Given the description of an element on the screen output the (x, y) to click on. 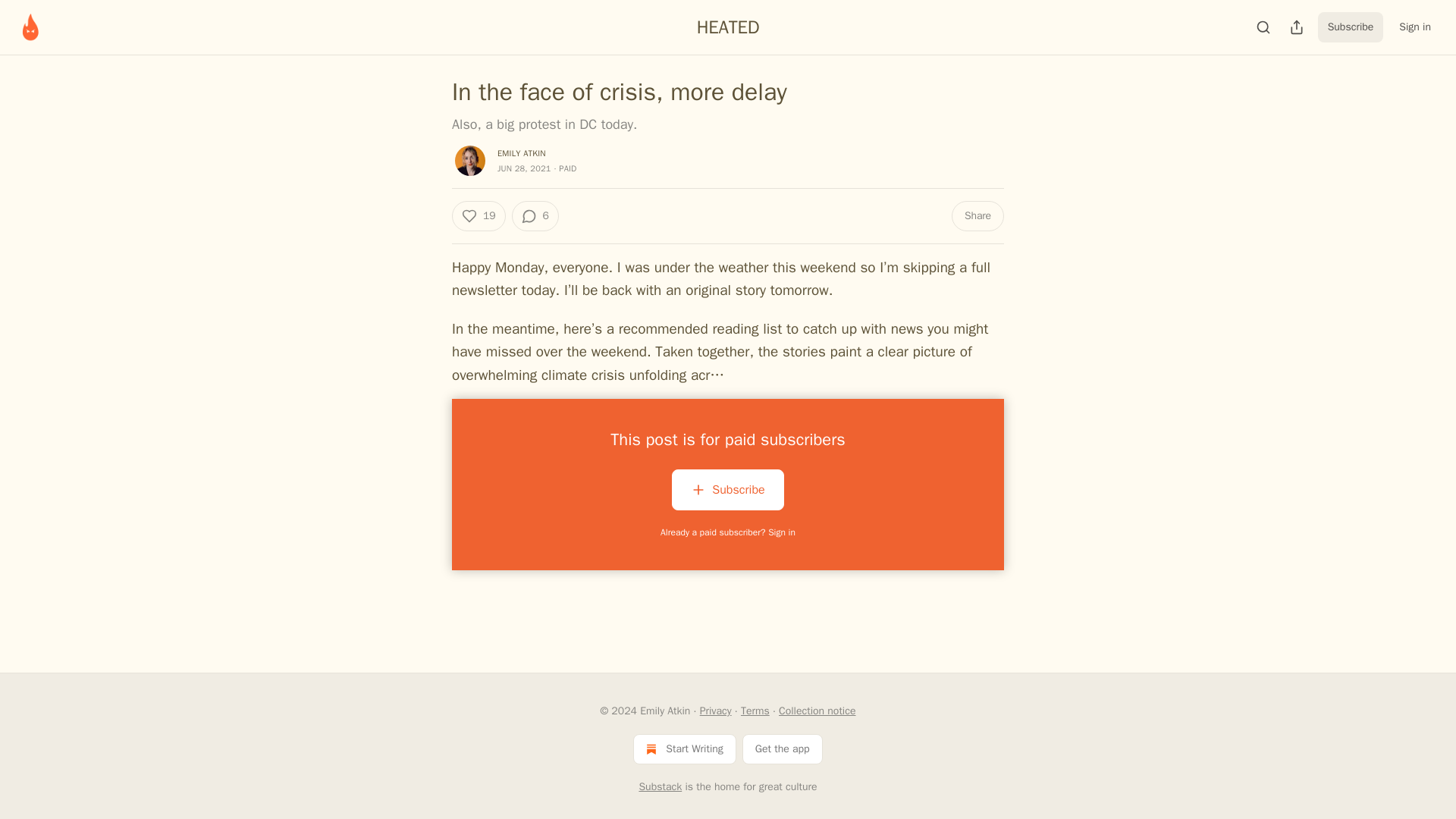
Substack (660, 786)
Privacy (716, 710)
HEATED (728, 26)
19 (478, 215)
Terms (755, 710)
Collection notice (817, 710)
Subscribe (727, 493)
6 (534, 215)
Subscribe (727, 489)
Start Writing (684, 748)
